Given the description of an element on the screen output the (x, y) to click on. 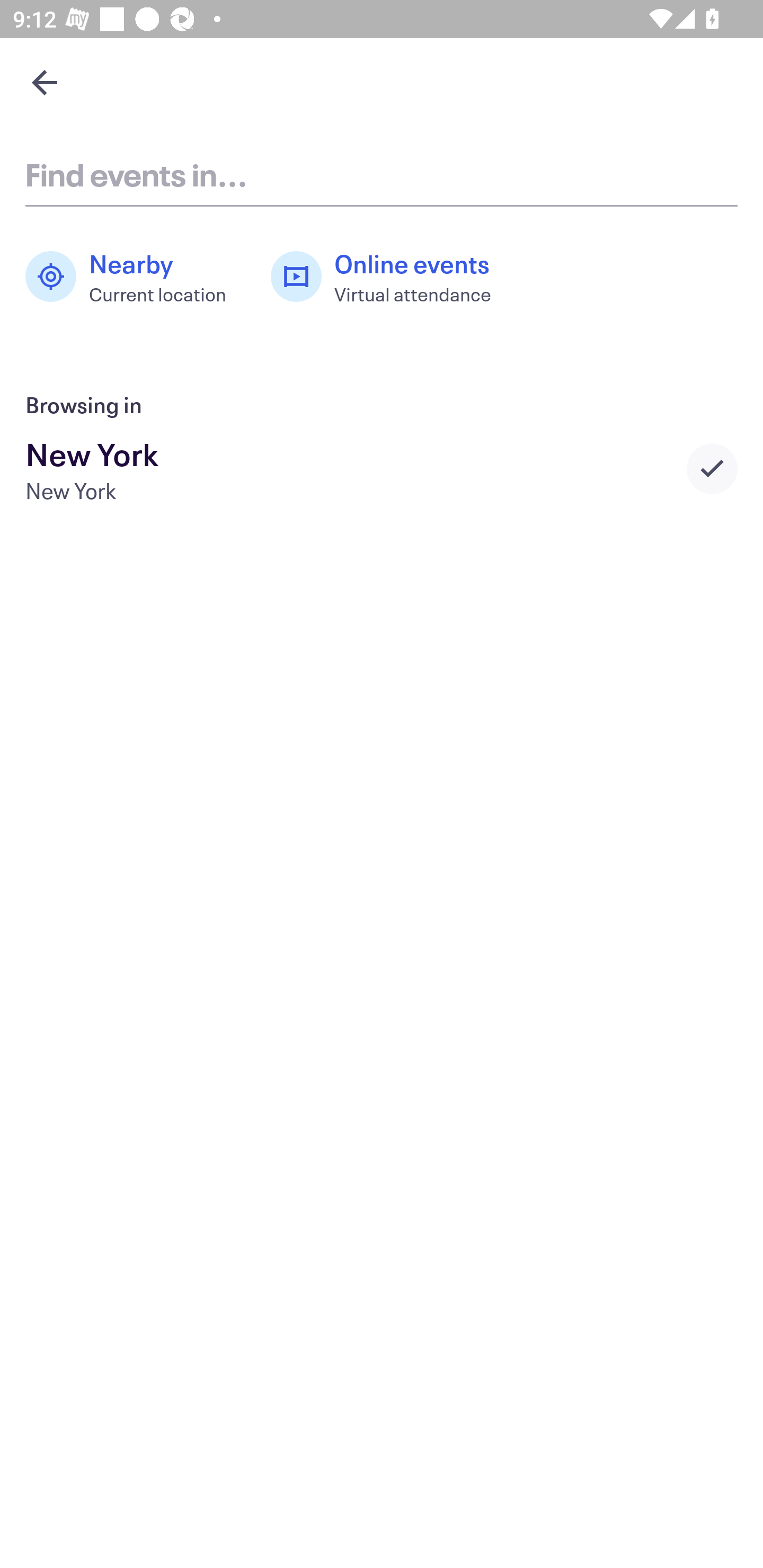
Navigate up (44, 82)
Find events in... (381, 173)
Nearby Current location (135, 276)
Online events Virtual attendance (390, 276)
New York New York Selected city (381, 468)
